Given the description of an element on the screen output the (x, y) to click on. 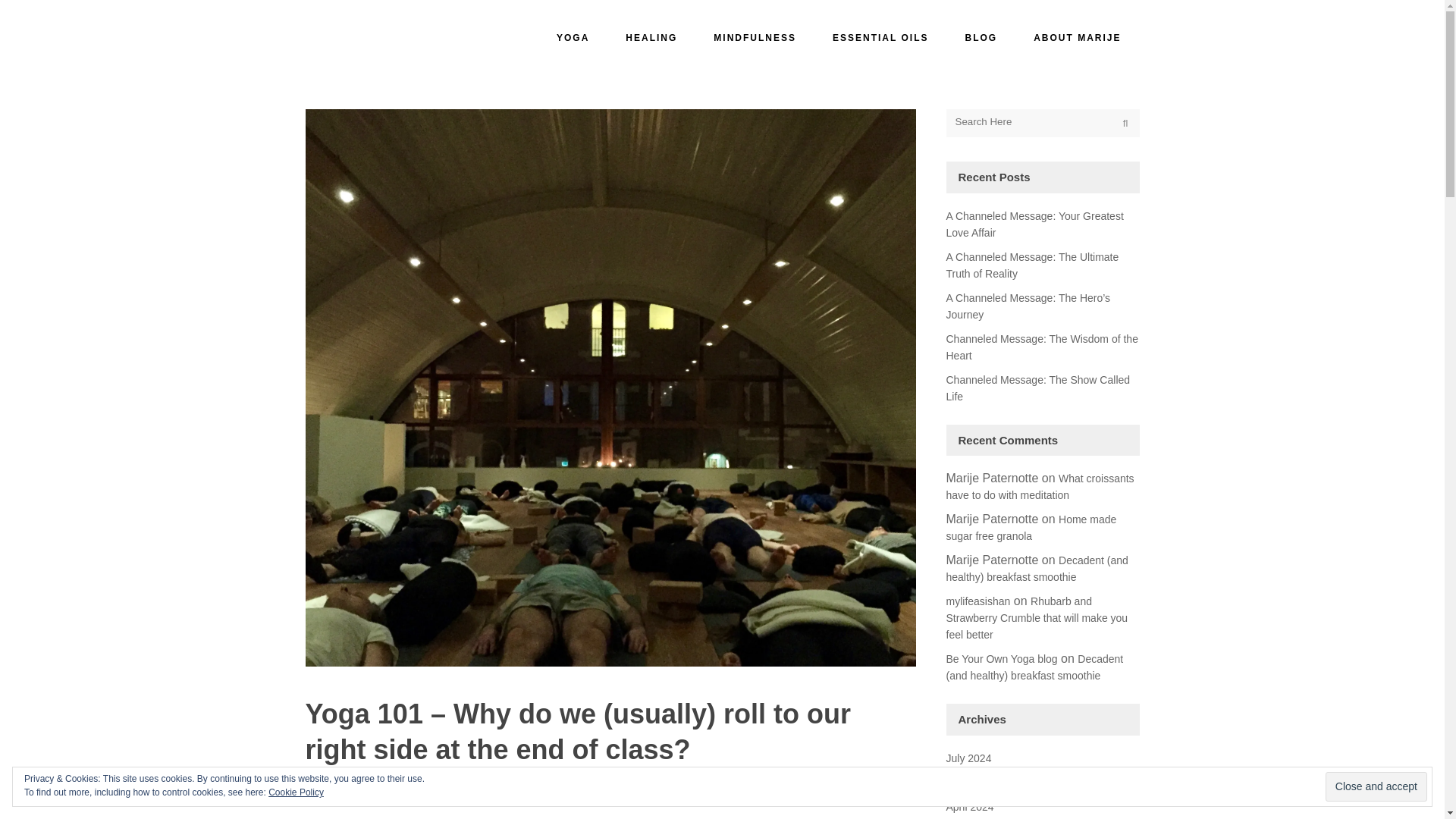
Marije Paternotte (342, 792)
Ayurveda (502, 792)
Yoga Practice (618, 792)
ABOUT MARIJE (1076, 38)
Like this (671, 792)
1 (671, 792)
Cookie Policy (295, 792)
HEALING (651, 38)
Close and accept (1375, 786)
BLOG (980, 38)
Yoga Postures (556, 792)
MINDFULNESS (754, 38)
YOGA (572, 38)
Close and accept (1375, 786)
ESSENTIAL OILS (879, 38)
